Given the description of an element on the screen output the (x, y) to click on. 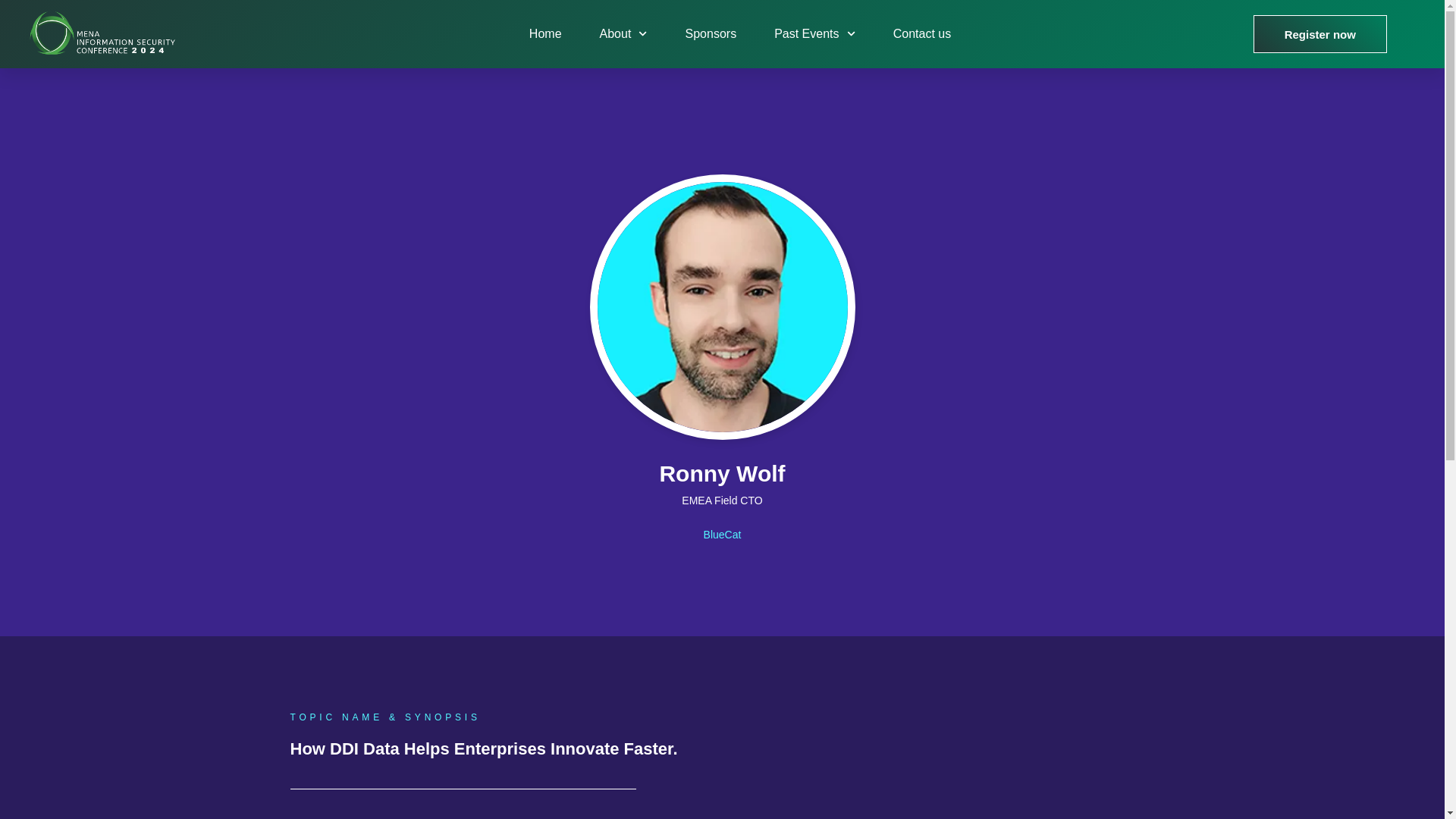
Past Events (815, 33)
